Given the description of an element on the screen output the (x, y) to click on. 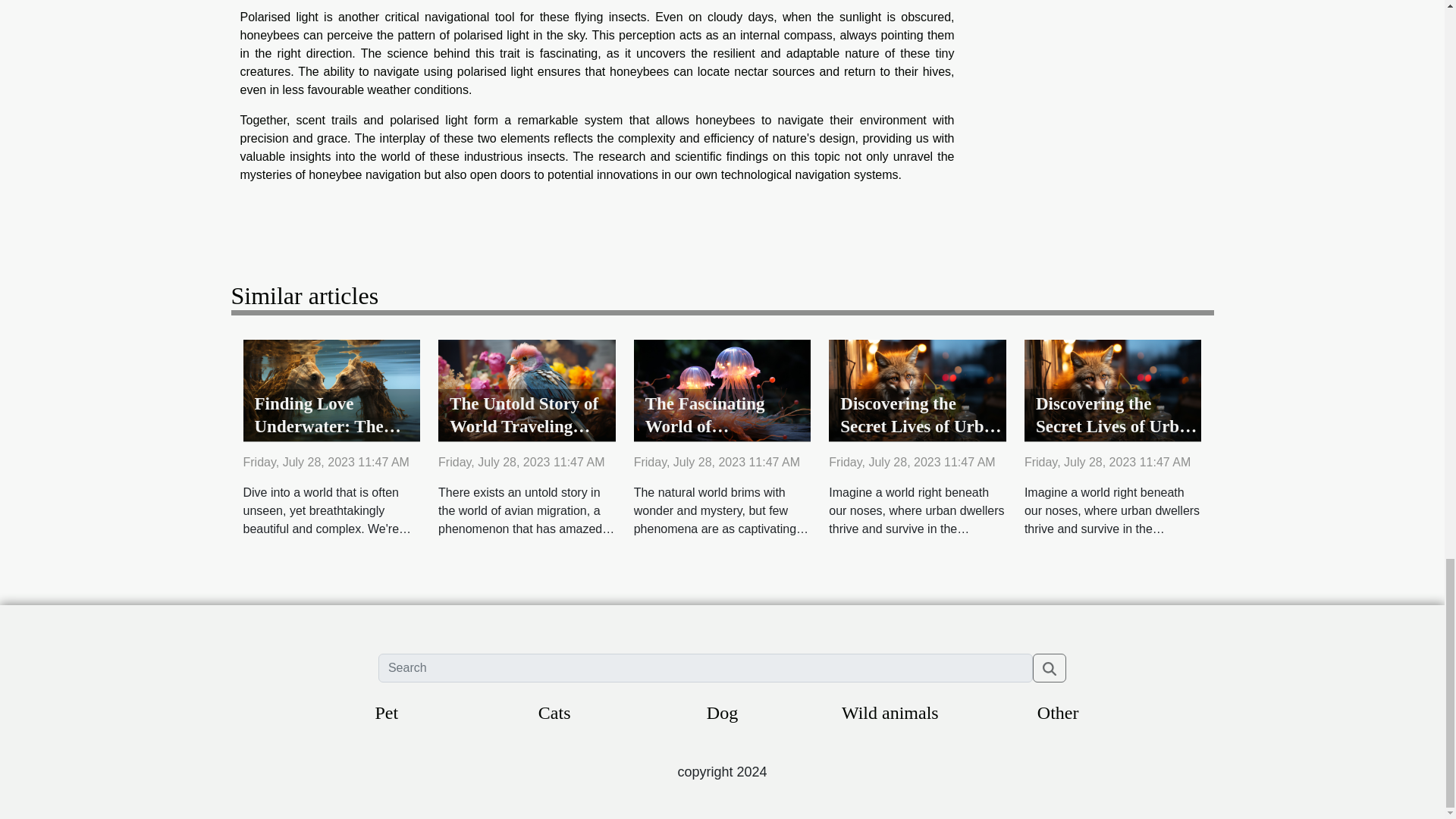
Discovering the Secret Lives of Urban Foxes (921, 425)
The Fascinating World of Bioluminescent Creatures (705, 437)
The Untold Story of World Traveling Birds (523, 425)
Discovering the Secret Lives of Urban Foxes (1113, 389)
The Untold Story of World Traveling Birds (523, 425)
The Untold Story of World Traveling Birds (526, 389)
The Fascinating World of Bioluminescent Creatures (705, 437)
Discovering the Secret Lives of Urban Foxes (921, 425)
Finding Love Underwater: The Mating Rituals of Sea Horses (331, 389)
The Fascinating World of Bioluminescent Creatures (721, 389)
Finding Love Underwater: The Mating Rituals of Sea Horses (335, 437)
Cats (554, 712)
Dog (722, 712)
Discovering the Secret Lives of Urban Foxes (1116, 425)
Other (1057, 712)
